Given the description of an element on the screen output the (x, y) to click on. 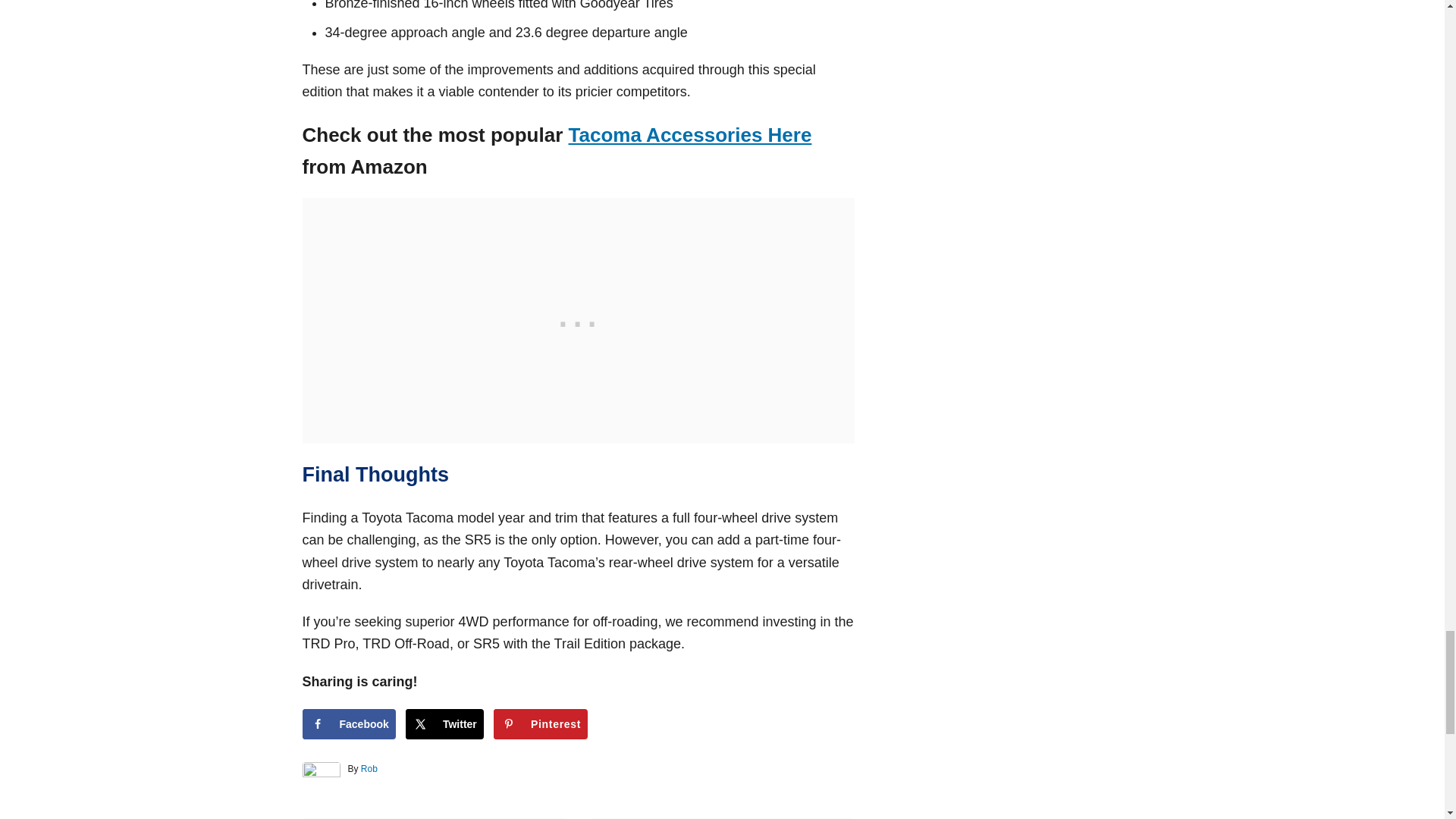
Share on Facebook (347, 724)
Tacoma Accessories Here (690, 134)
Twitter (444, 724)
Pinterest (540, 724)
Save to Pinterest (540, 724)
Facebook (347, 724)
Rob (369, 768)
Share on X (444, 724)
